Given the description of an element on the screen output the (x, y) to click on. 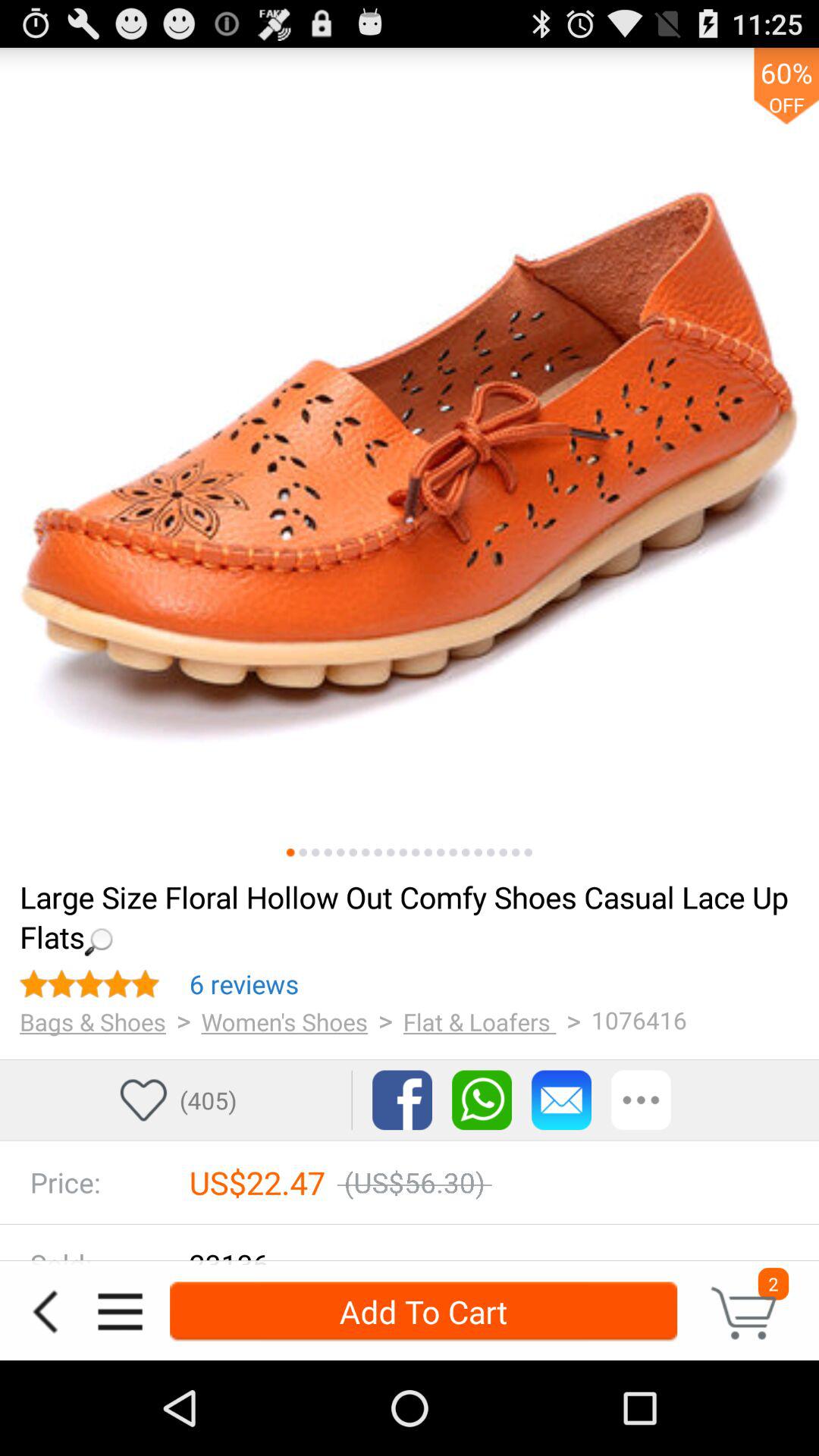
show another photo of the article (503, 852)
